Given the description of an element on the screen output the (x, y) to click on. 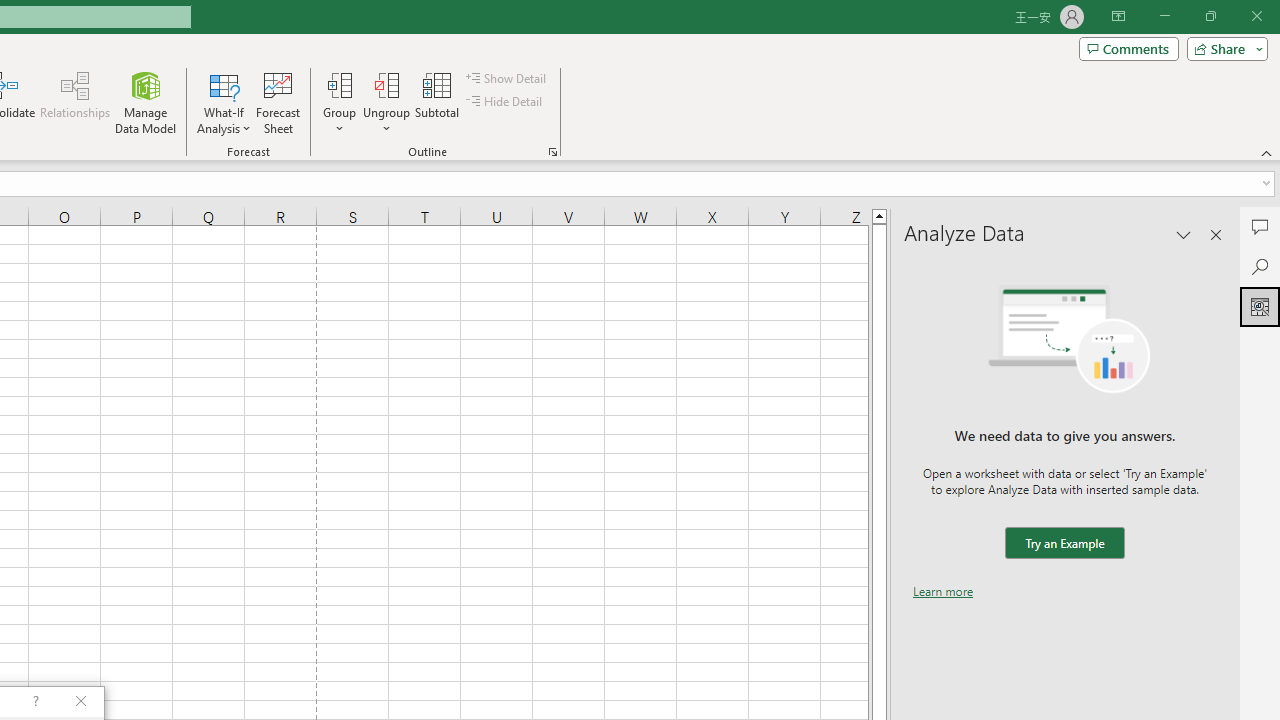
Manage Data Model (145, 102)
What-If Analysis (223, 102)
Learn more (943, 591)
Search (1260, 266)
Forecast Sheet (278, 102)
